Given the description of an element on the screen output the (x, y) to click on. 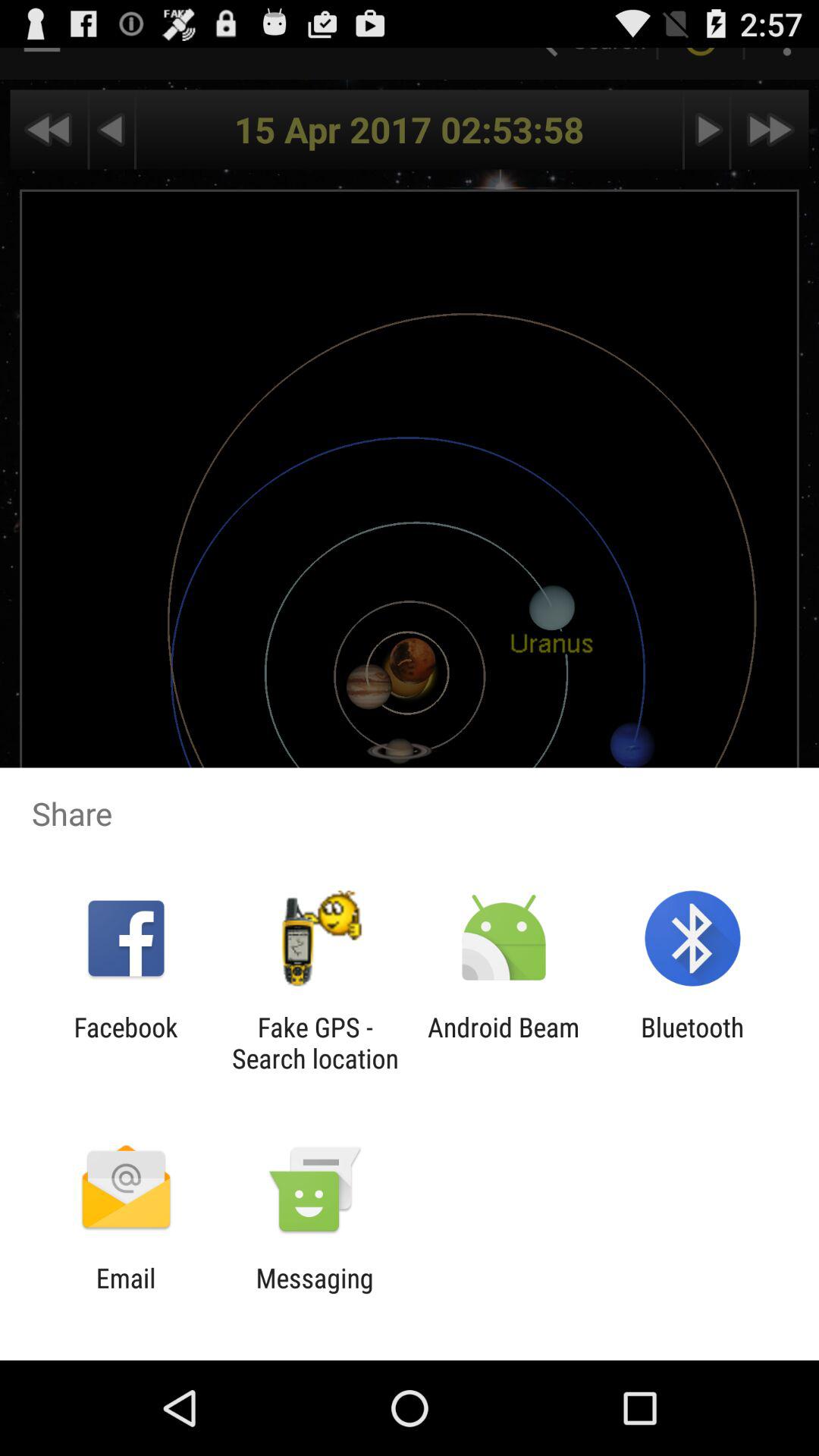
scroll to the bluetooth (691, 1042)
